Given the description of an element on the screen output the (x, y) to click on. 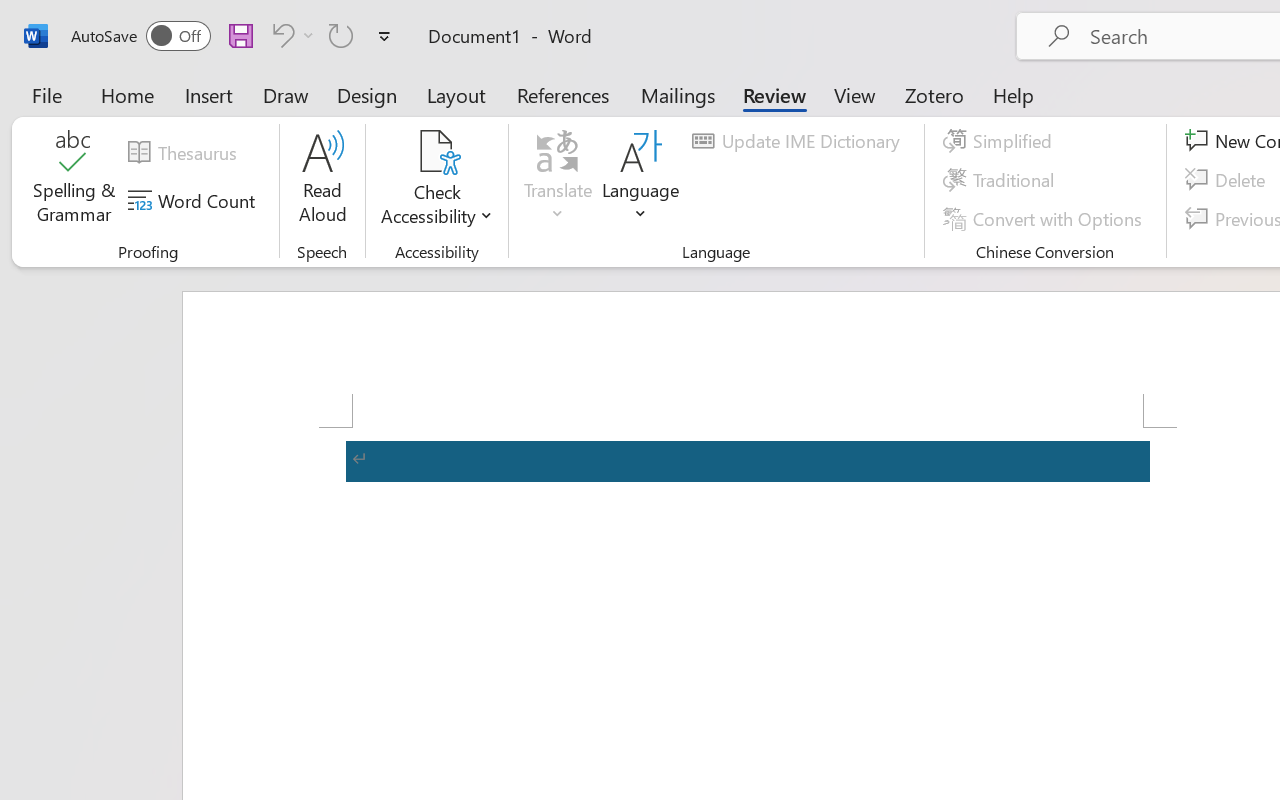
Delete (1227, 179)
Update IME Dictionary... (799, 141)
Convert with Options... (1045, 218)
Check Accessibility (436, 179)
Read Aloud (322, 179)
Thesaurus... (185, 153)
Translate (558, 179)
Traditional (1001, 179)
